Given the description of an element on the screen output the (x, y) to click on. 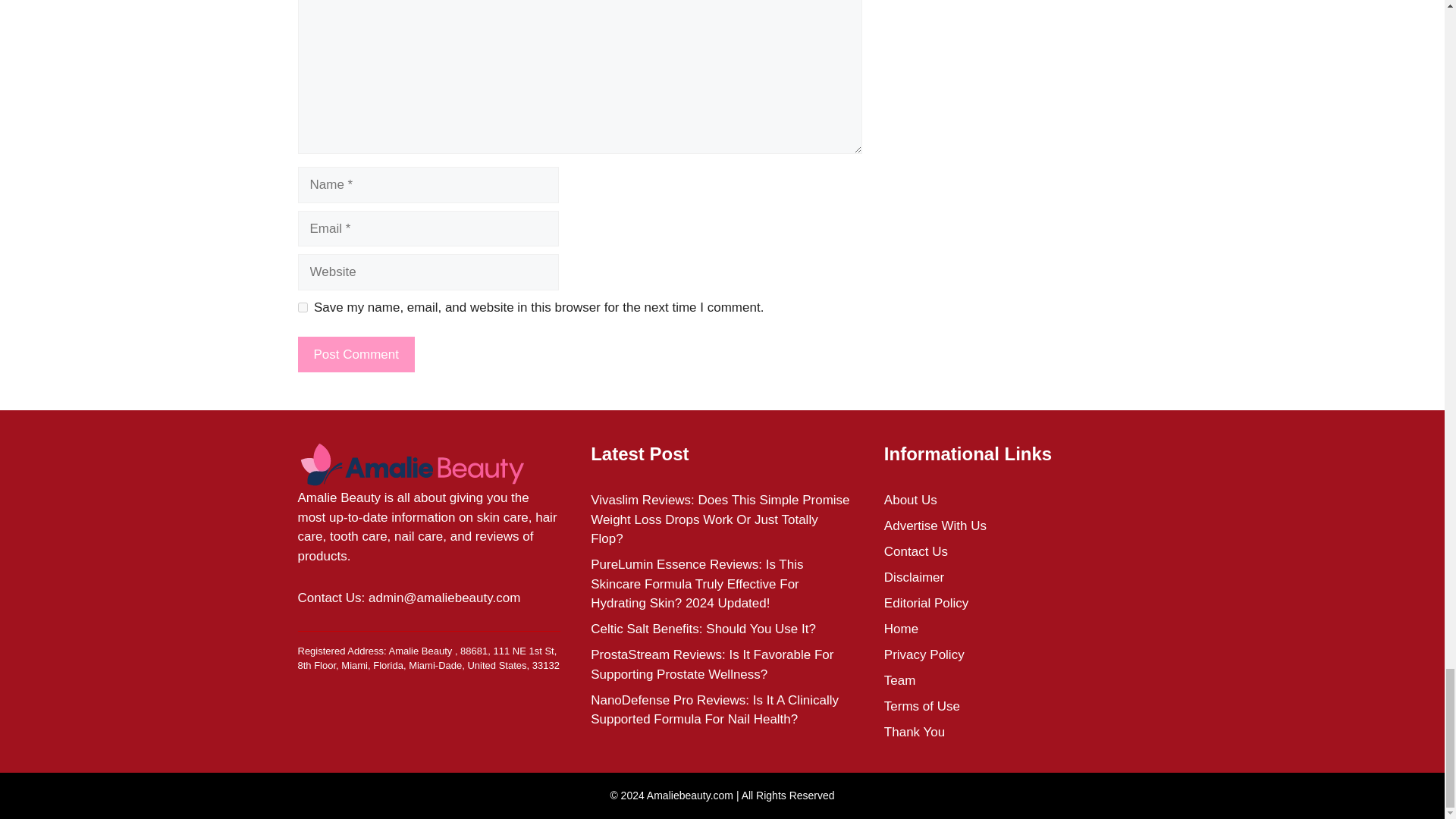
Post Comment (355, 354)
yes (302, 307)
